Given the description of an element on the screen output the (x, y) to click on. 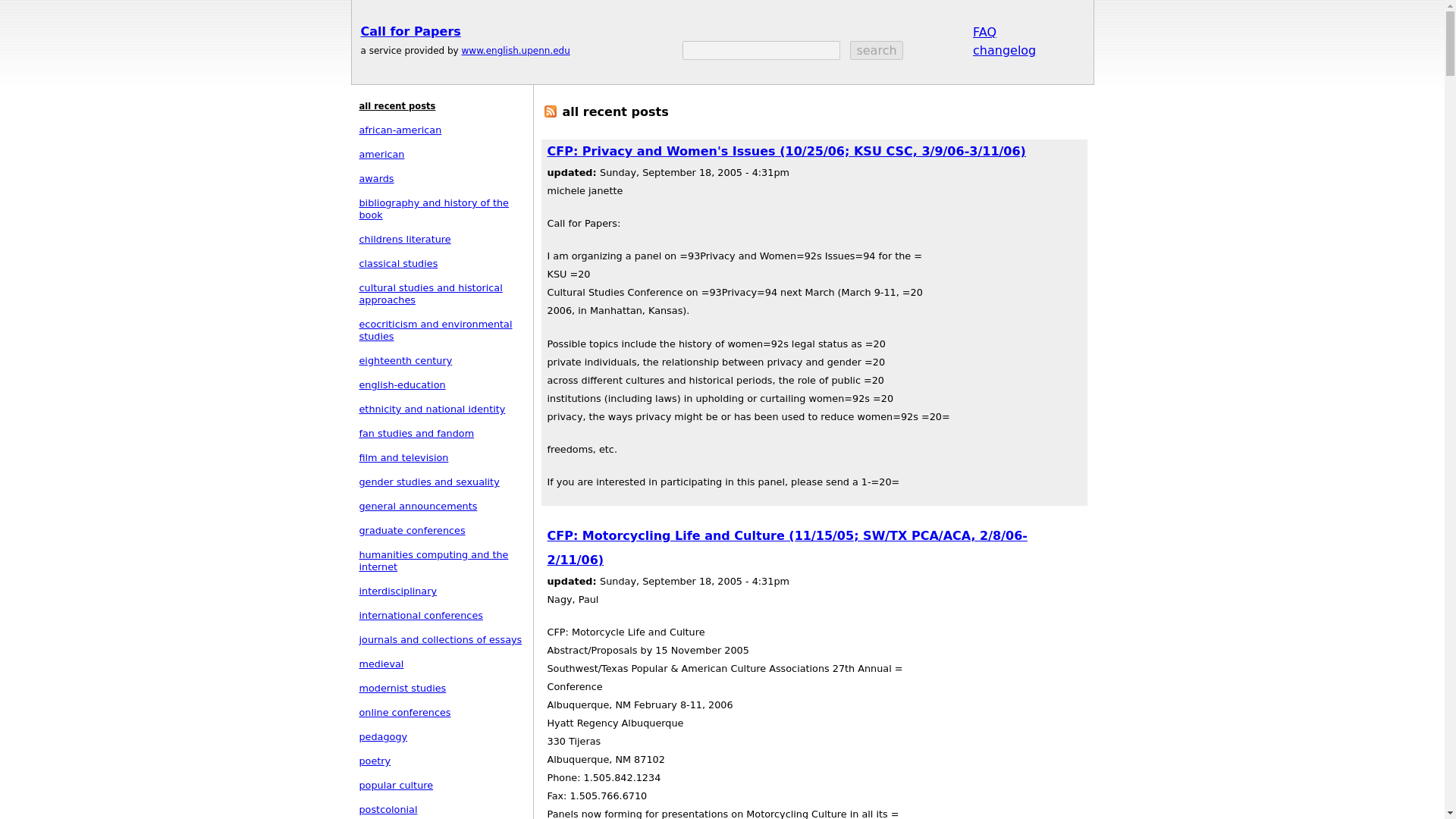
Call for Papers (411, 31)
search (876, 49)
www.english.upenn.edu (515, 50)
search (876, 49)
FAQ (983, 31)
changelog (1003, 49)
